Given the description of an element on the screen output the (x, y) to click on. 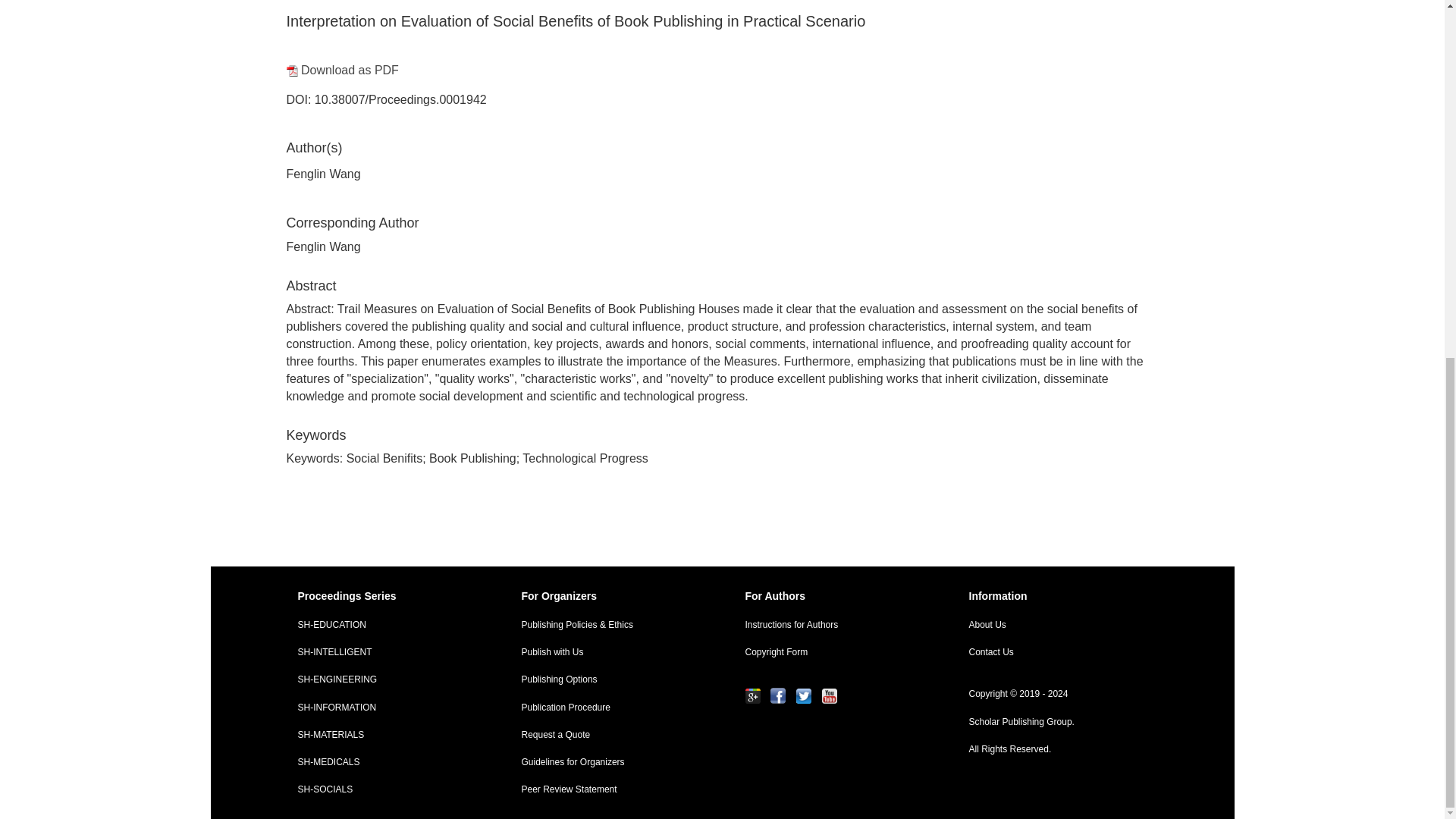
Proceedings Series (386, 596)
Request a Quote (609, 735)
Contact Us (1056, 652)
SH-INFORMATION (386, 707)
Guidelines for Organizers (609, 762)
Publishing Options (609, 679)
Scholar Publishing Group. (1056, 722)
Publication Procedure (609, 707)
Publish with Us (609, 652)
Information (1056, 596)
Copyright Form (833, 652)
SH-ENGINEERING (386, 679)
For Organizers (609, 596)
For Authors (833, 596)
Instructions for Authors (833, 624)
